Given the description of an element on the screen output the (x, y) to click on. 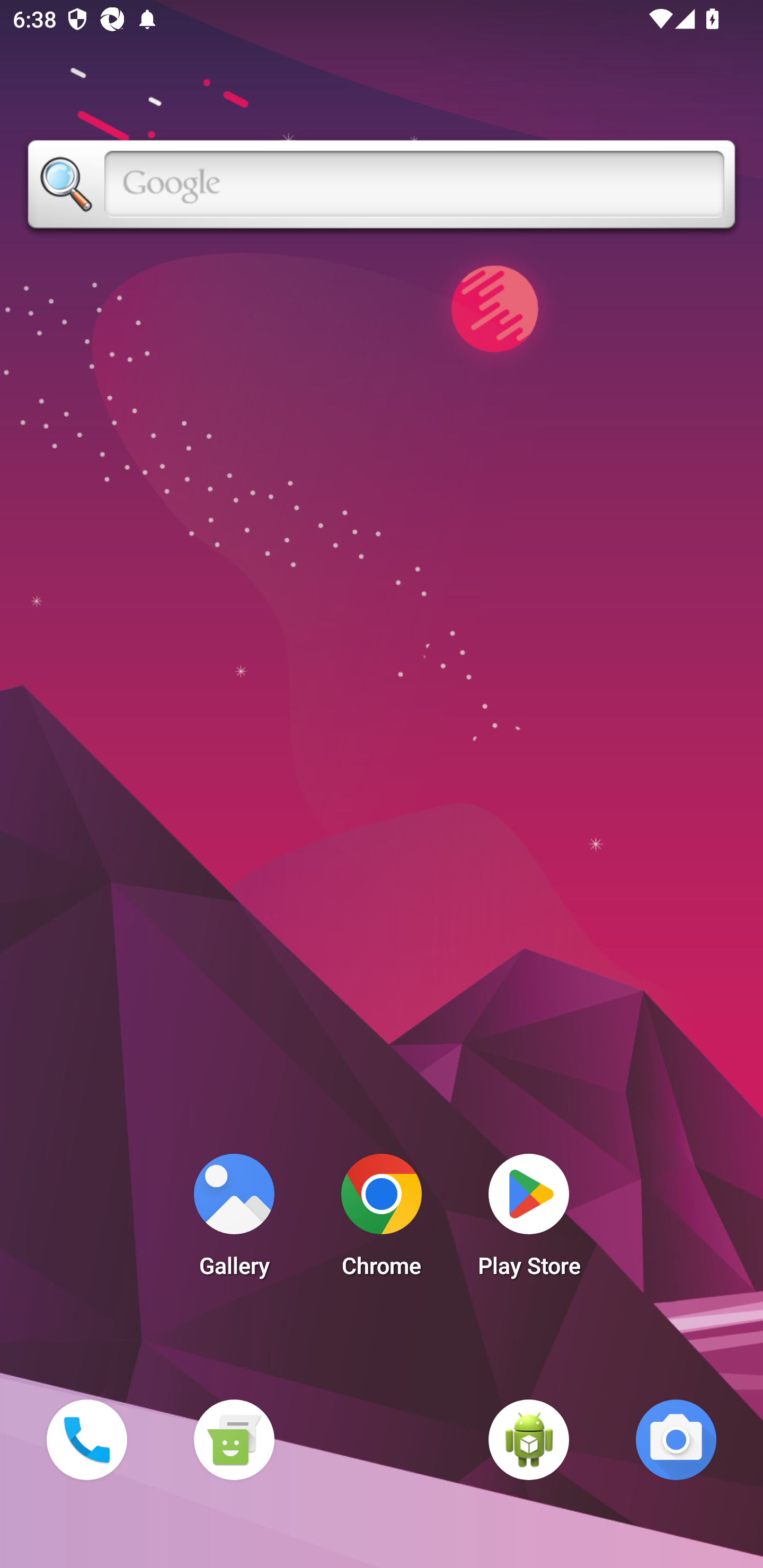
Gallery (233, 1220)
Chrome (381, 1220)
Play Store (528, 1220)
Phone (86, 1439)
Messaging (233, 1439)
WebView Browser Tester (528, 1439)
Camera (676, 1439)
